Given the description of an element on the screen output the (x, y) to click on. 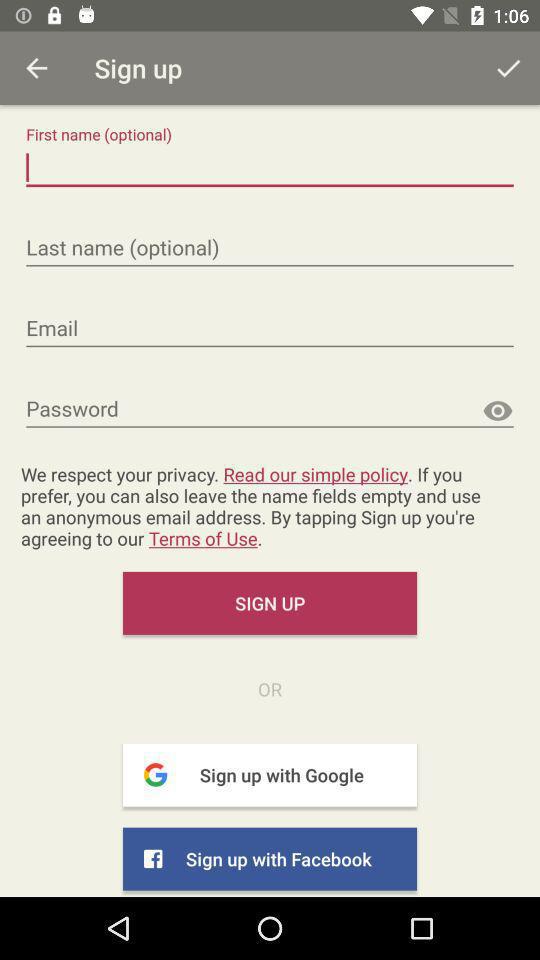
go to prvious (36, 68)
